Given the description of an element on the screen output the (x, y) to click on. 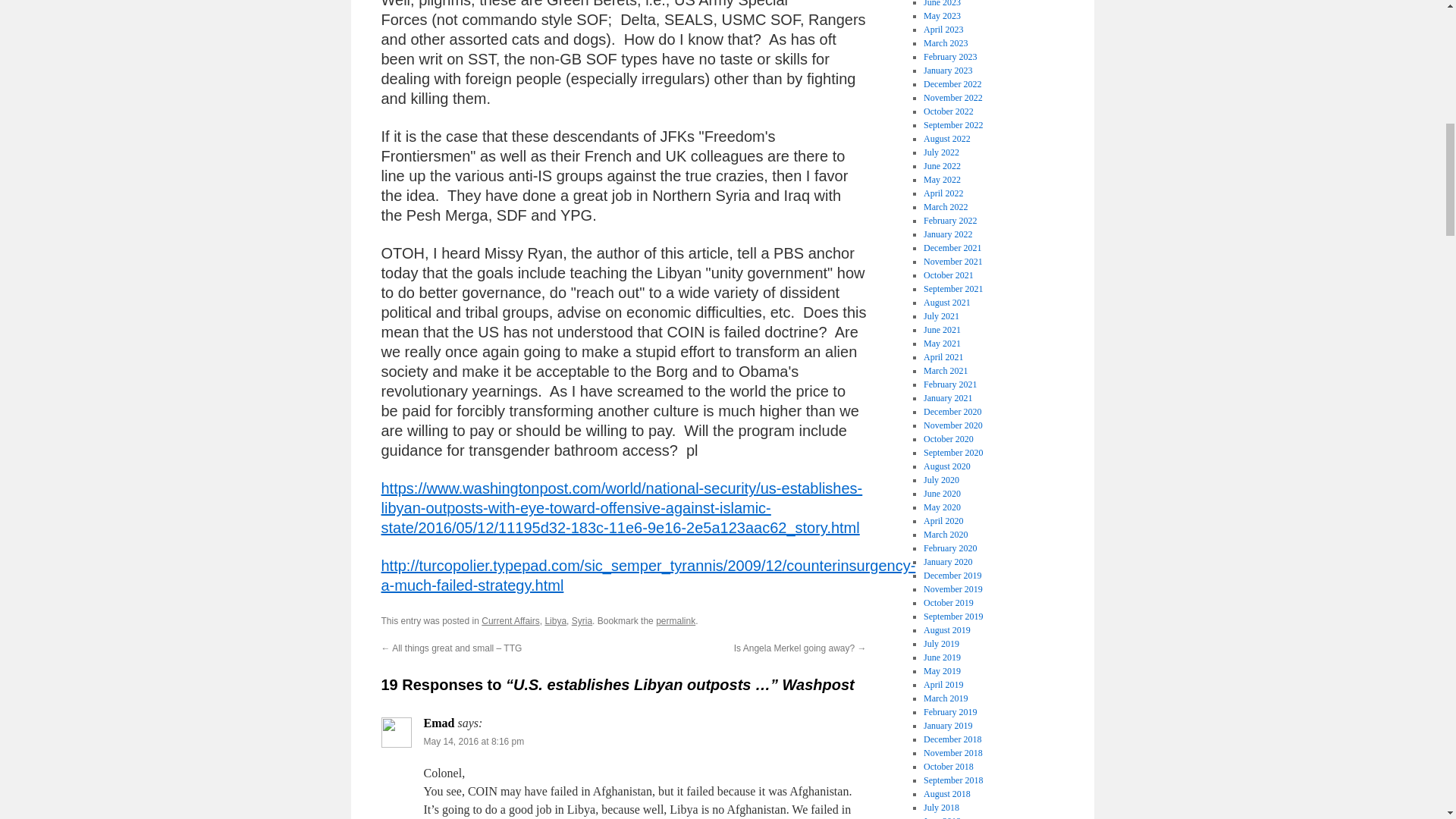
Libya (555, 620)
Current Affairs (509, 620)
Libya (620, 507)
May 14, 2016 at 8:16 pm (473, 741)
permalink (675, 620)
Syria (582, 620)
COIN (647, 575)
